Given the description of an element on the screen output the (x, y) to click on. 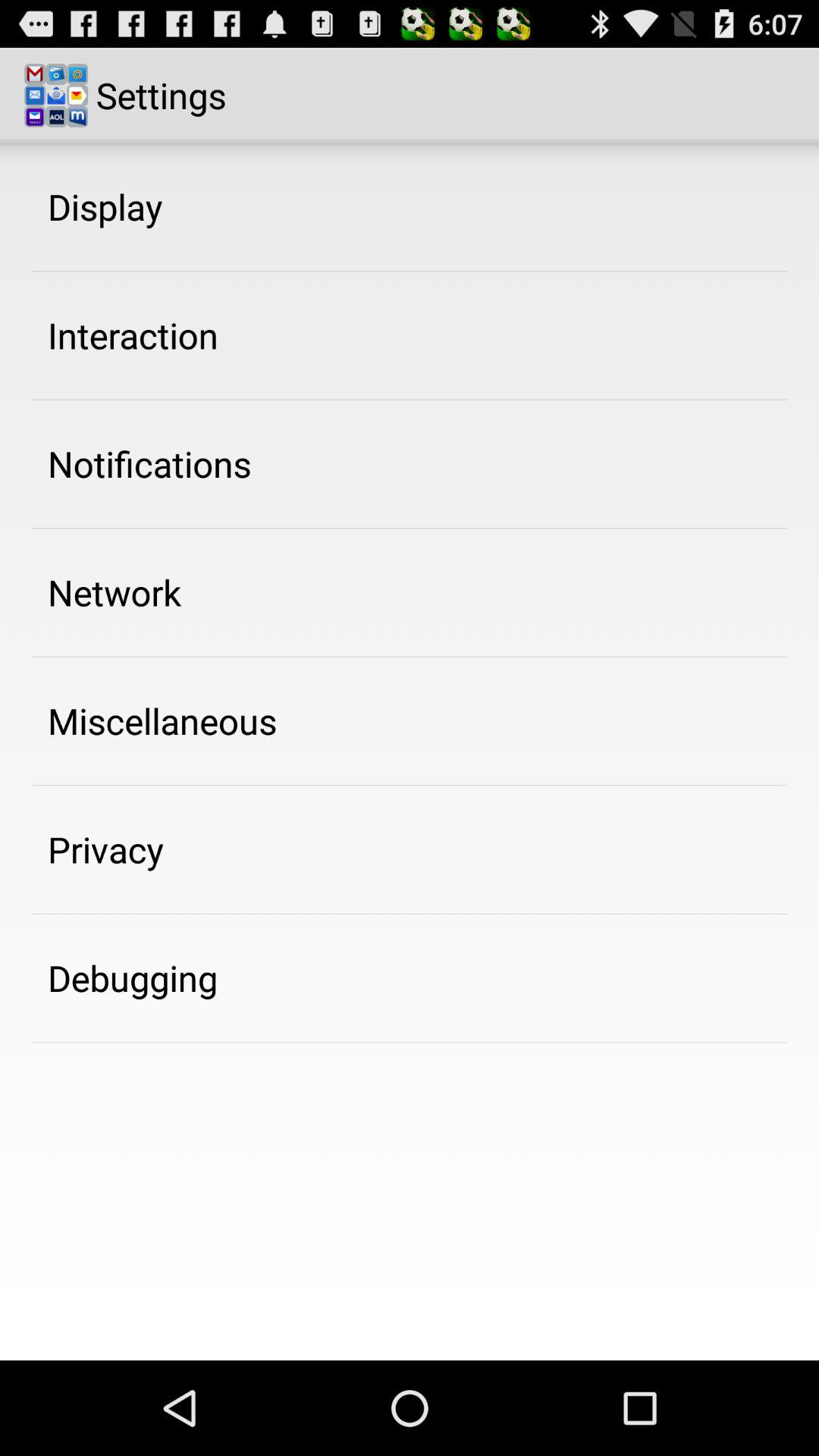
launch the item above the debugging app (105, 849)
